Given the description of an element on the screen output the (x, y) to click on. 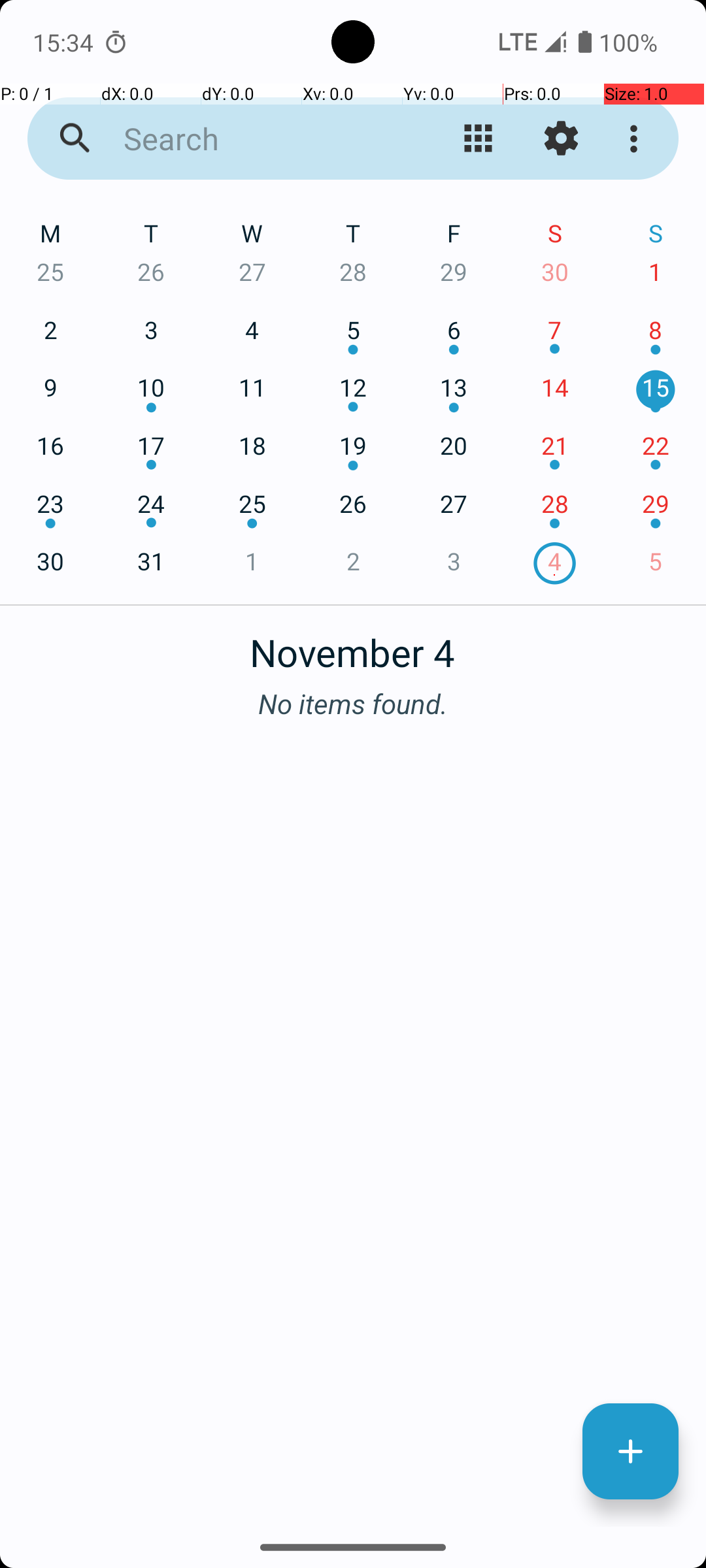
November 4 Element type: android.widget.TextView (352, 644)
